Given the description of an element on the screen output the (x, y) to click on. 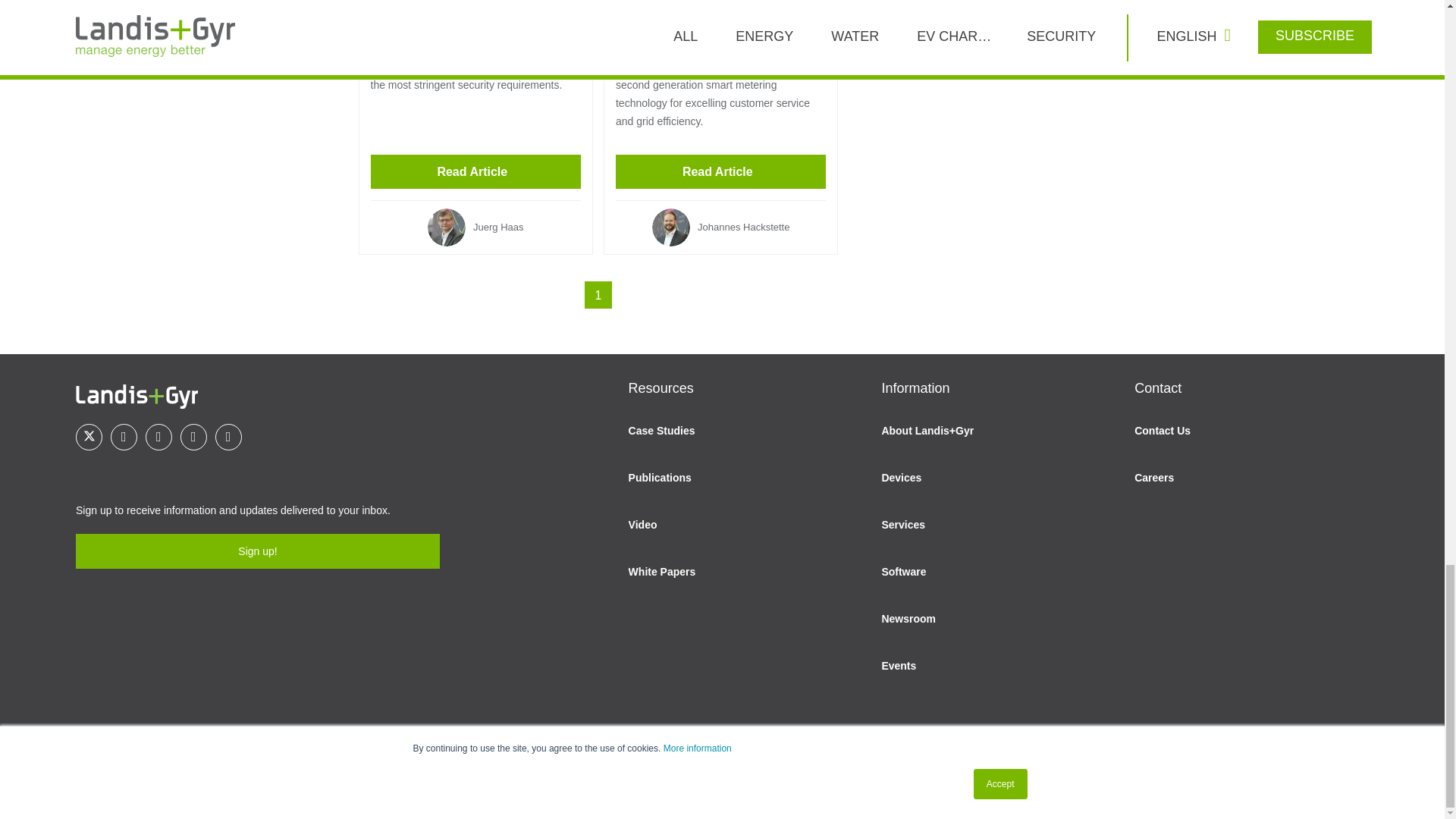
Twitter (88, 437)
